Given the description of an element on the screen output the (x, y) to click on. 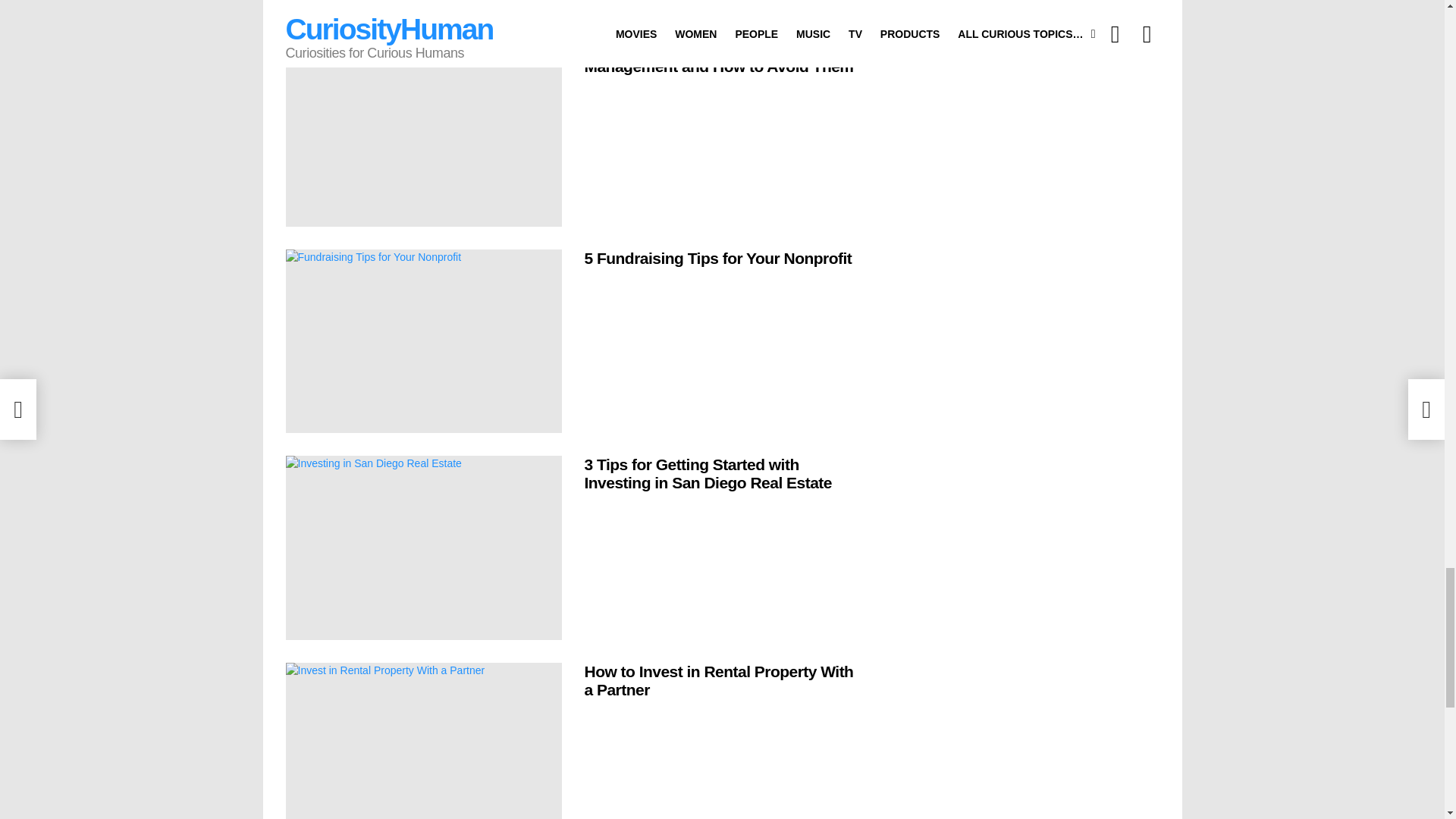
How to Invest in Rental Property With a Partner (422, 740)
5 Fundraising Tips for Your Nonprofit (422, 341)
8 Common SSDI Application Mistakes and How to Avoid Them (422, 8)
